Given the description of an element on the screen output the (x, y) to click on. 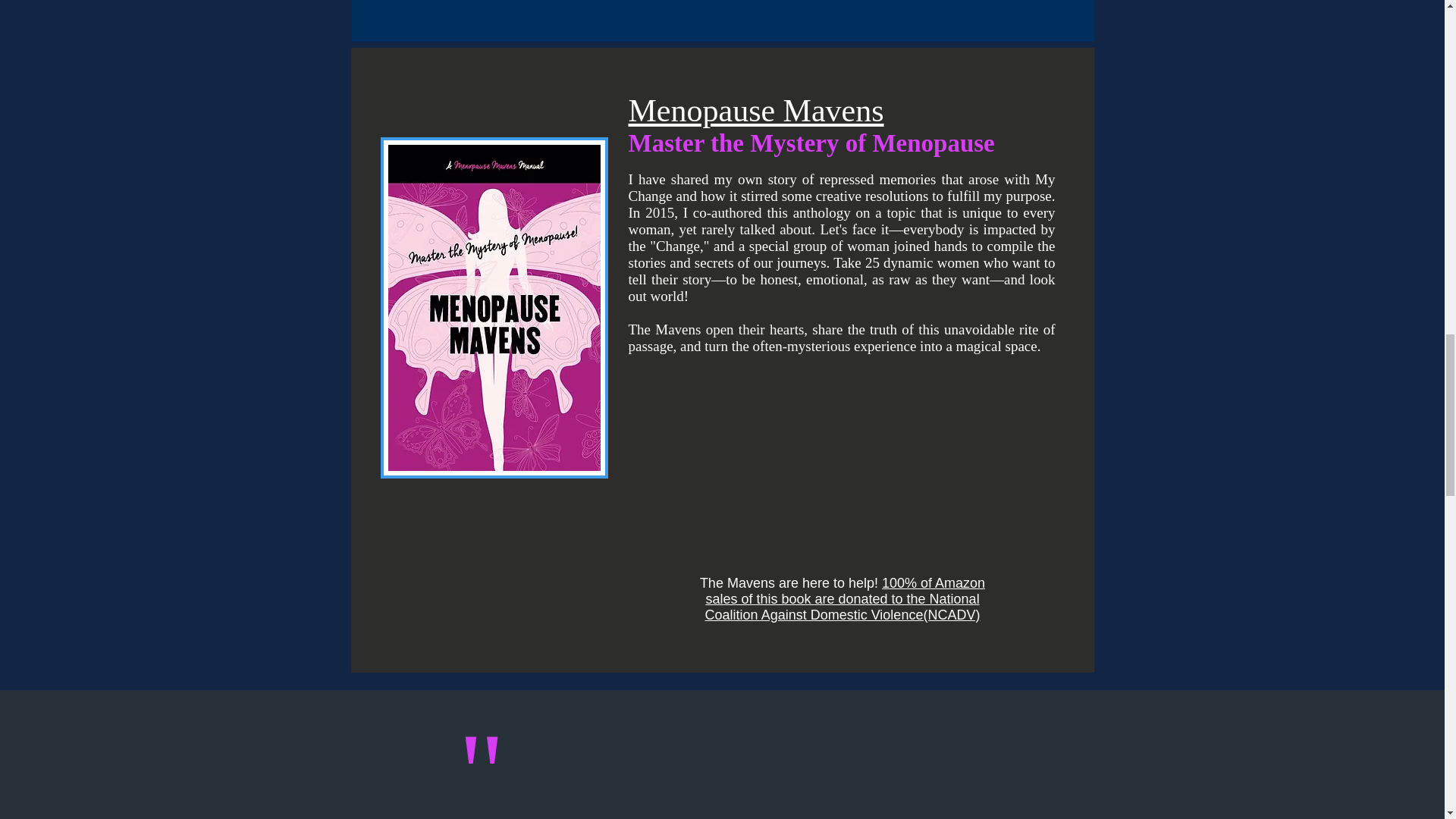
Menopause Mavens (755, 109)
Menopause Mavens (494, 307)
